Given the description of an element on the screen output the (x, y) to click on. 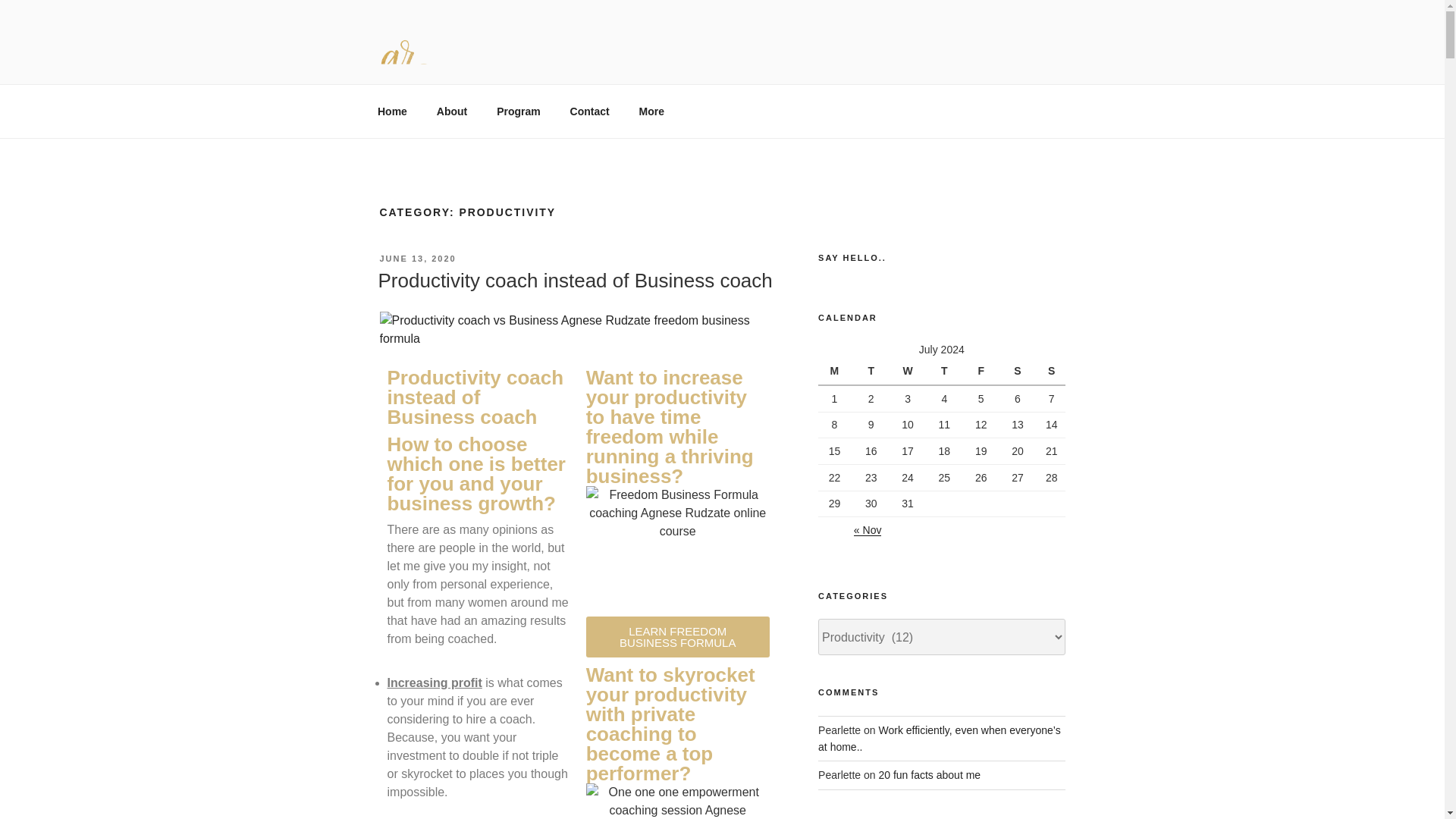
About (451, 110)
JUNE 13, 2020 (416, 257)
Wednesday (909, 370)
Thursday (945, 370)
Monday (836, 370)
Productivity coach instead of Business coach (574, 280)
LEARN FREEDOM BUSINESS FORMULA (678, 636)
Sunday (1051, 370)
Program (518, 110)
Home (392, 110)
Contact (589, 110)
More (651, 110)
Saturday (1019, 370)
Friday (982, 370)
Tuesday (872, 370)
